Given the description of an element on the screen output the (x, y) to click on. 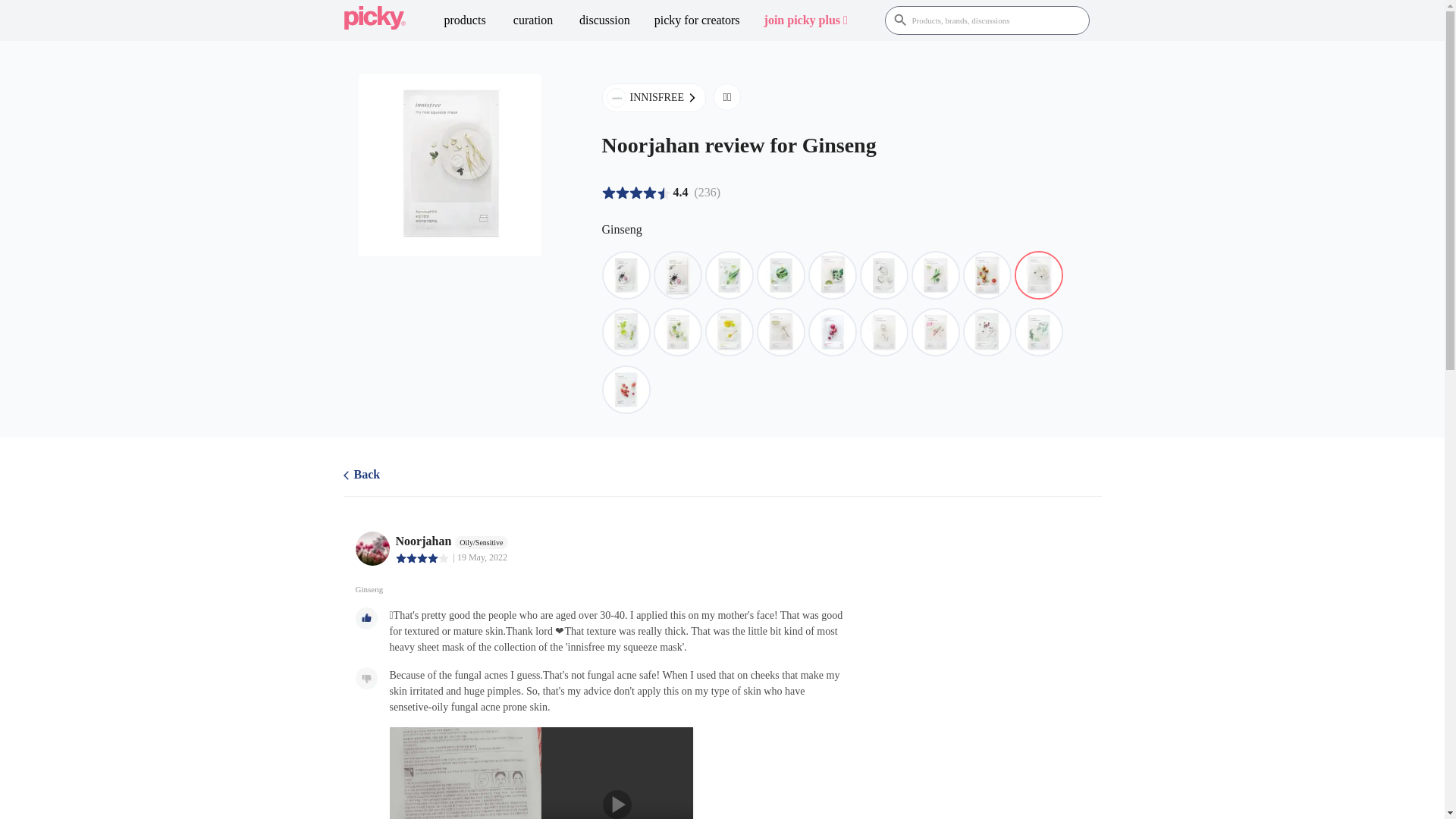
curation (533, 20)
discussion (604, 20)
picky for creators (697, 20)
products (464, 20)
